Given the description of an element on the screen output the (x, y) to click on. 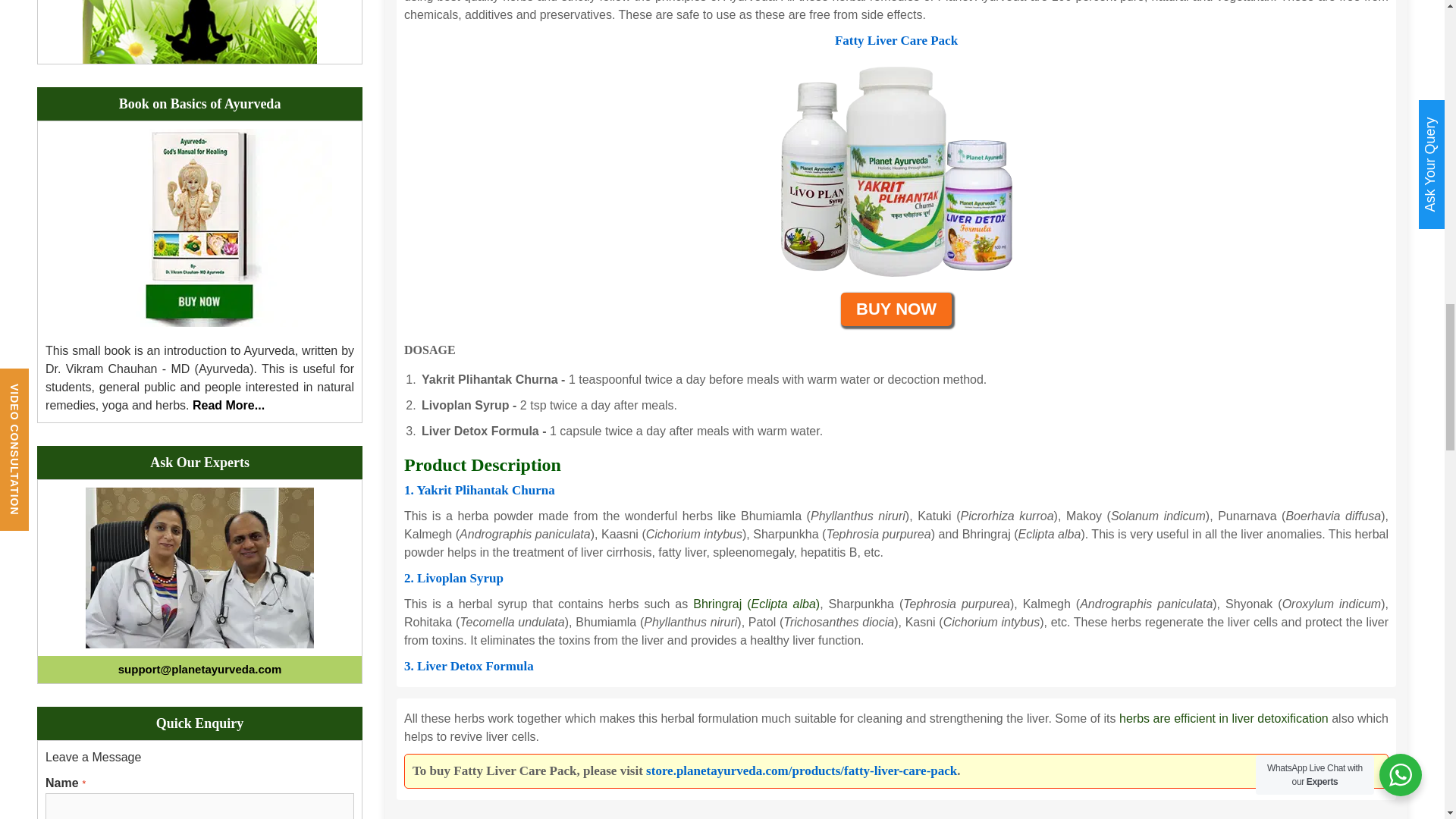
Why Planet Ayurveda? (199, 31)
Fatty Liver Care Pack (896, 169)
